Given the description of an element on the screen output the (x, y) to click on. 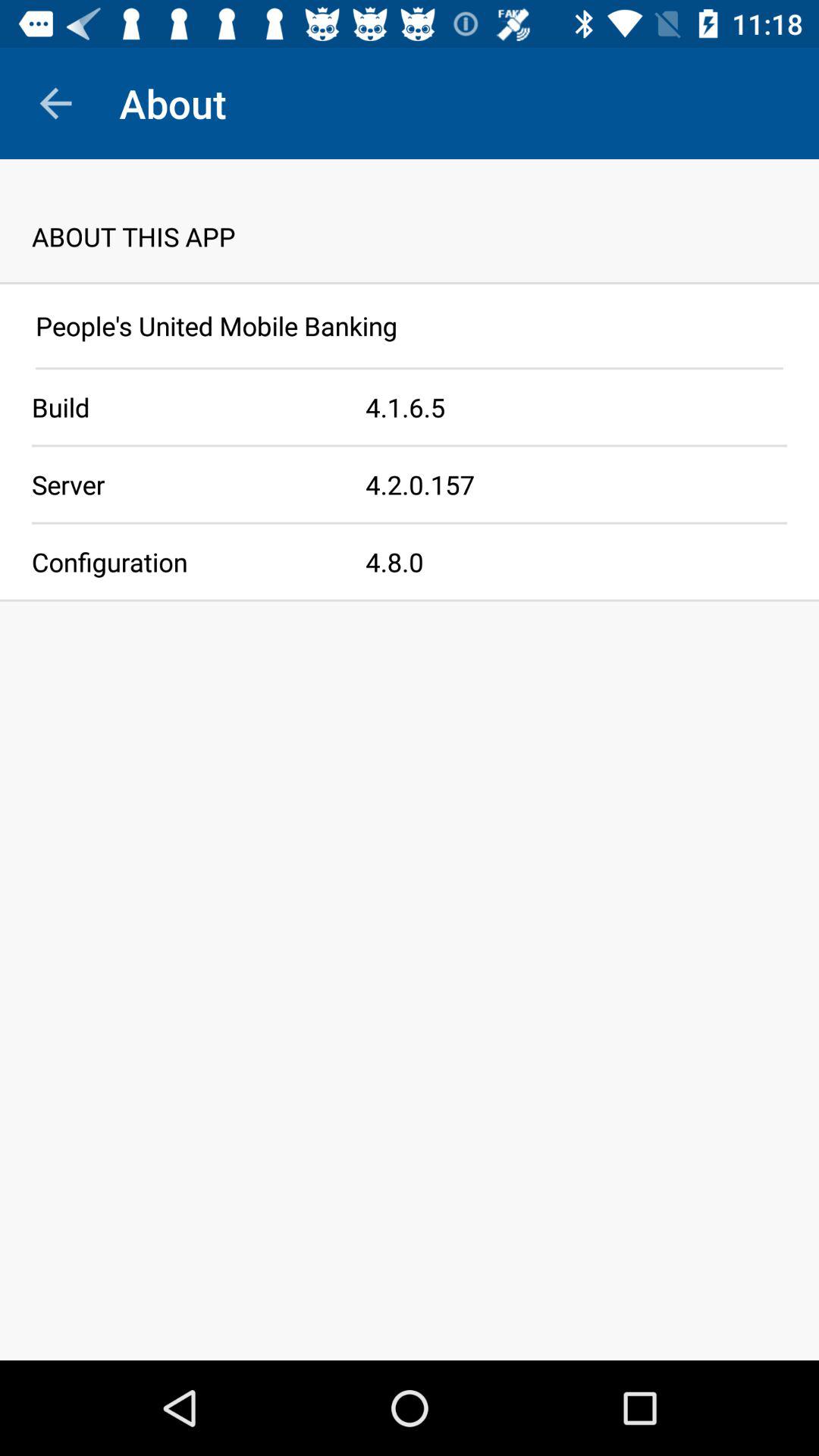
open the build icon (182, 406)
